Given the description of an element on the screen output the (x, y) to click on. 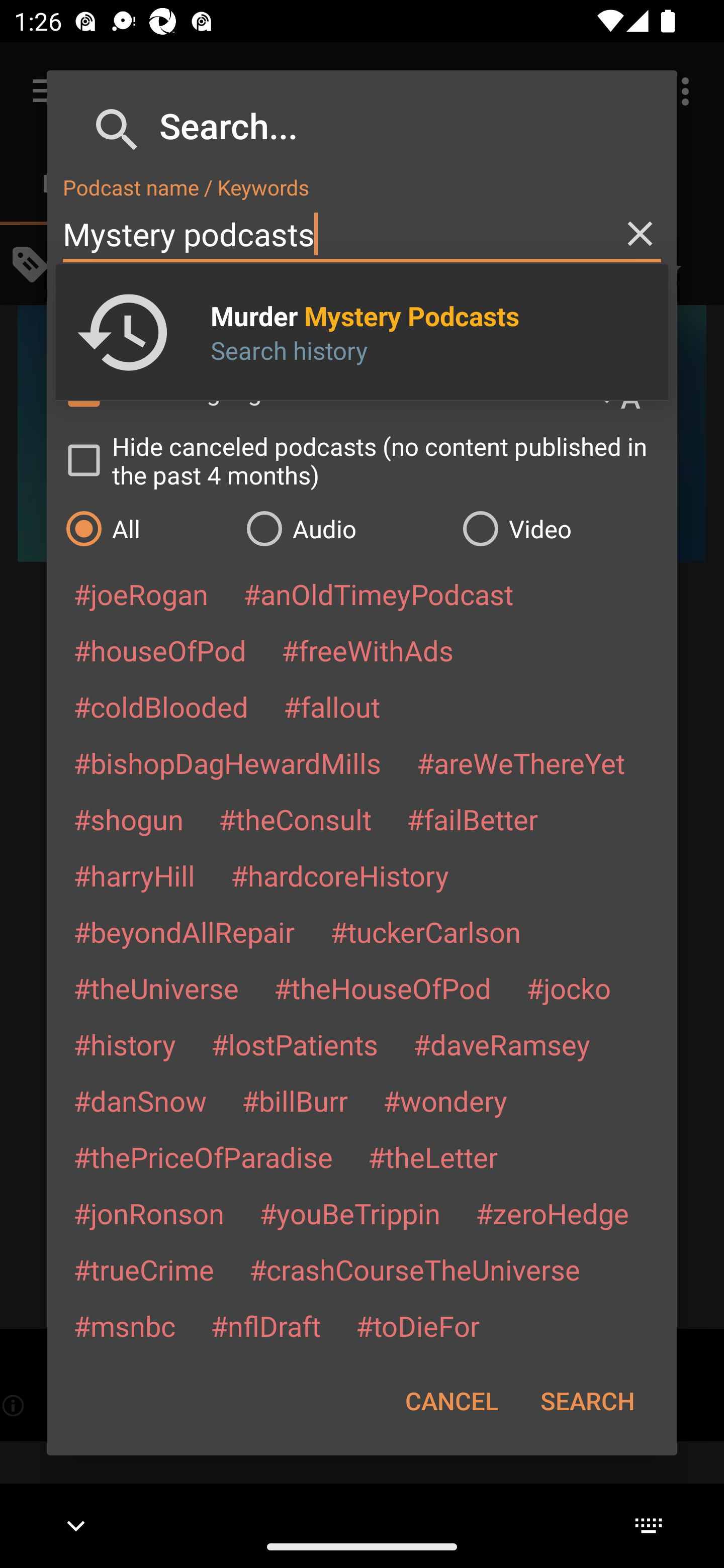
Mystery podcasts (361, 234)
All (145, 528)
Audio (344, 528)
Video (560, 528)
#joeRogan (140, 594)
#anOldTimeyPodcast (378, 594)
#houseOfPod (159, 650)
#freeWithAds (367, 650)
#coldBlooded (160, 705)
#fallout (331, 705)
#bishopDagHewardMills (227, 762)
#areWeThereYet (521, 762)
#shogun (128, 818)
#theConsult (294, 818)
#failBetter (471, 818)
#harryHill (134, 875)
#hardcoreHistory (339, 875)
#beyondAllRepair (184, 931)
#tuckerCarlson (425, 931)
#theUniverse (155, 987)
#theHouseOfPod (381, 987)
#jocko (568, 987)
#history (124, 1044)
#lostPatients (294, 1044)
#daveRamsey (501, 1044)
#danSnow (139, 1100)
#billBurr (294, 1100)
#wondery (444, 1100)
#thePriceOfParadise (203, 1157)
#theLetter (432, 1157)
#jonRonson (148, 1213)
#youBeTrippin (349, 1213)
#zeroHedge (552, 1213)
#trueCrime (143, 1268)
#crashCourseTheUniverse (414, 1268)
#msnbc (124, 1325)
#nflDraft (265, 1325)
#toDieFor (417, 1325)
CANCEL (451, 1400)
SEARCH (587, 1400)
